Given the description of an element on the screen output the (x, y) to click on. 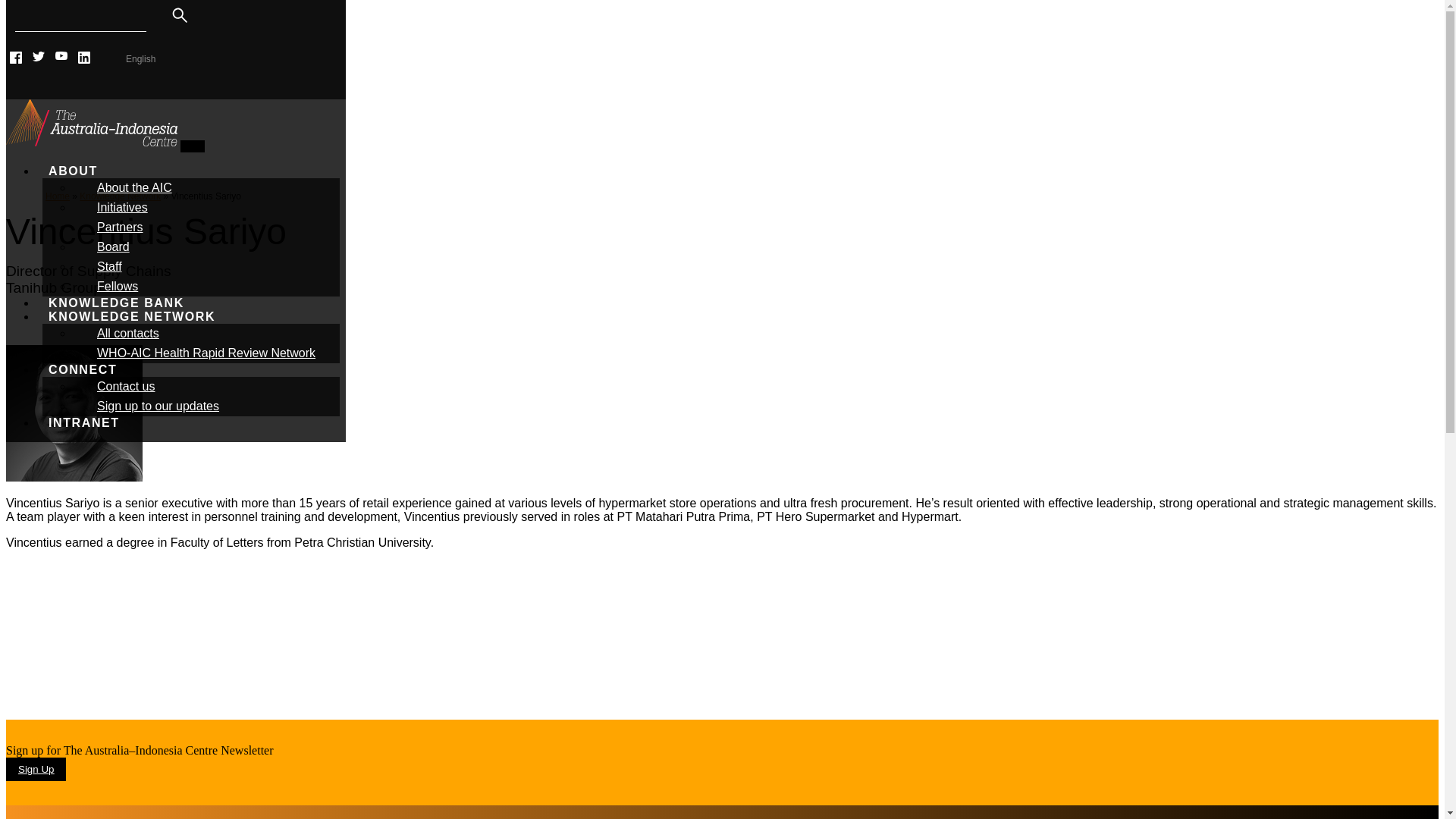
Staff (223, 266)
About the AIC (223, 188)
Contact us (223, 386)
Home (57, 195)
All contacts (223, 333)
CONNECT (82, 371)
Knowledge Network (131, 319)
INTRANET (83, 425)
Sign up to our updates (223, 406)
KNOWLEDGE NETWORK (131, 319)
WHO-AIC Health Rapid Review Network (223, 353)
Initiatives (223, 207)
Partners (223, 227)
Partners (223, 227)
Board (223, 247)
